Given the description of an element on the screen output the (x, y) to click on. 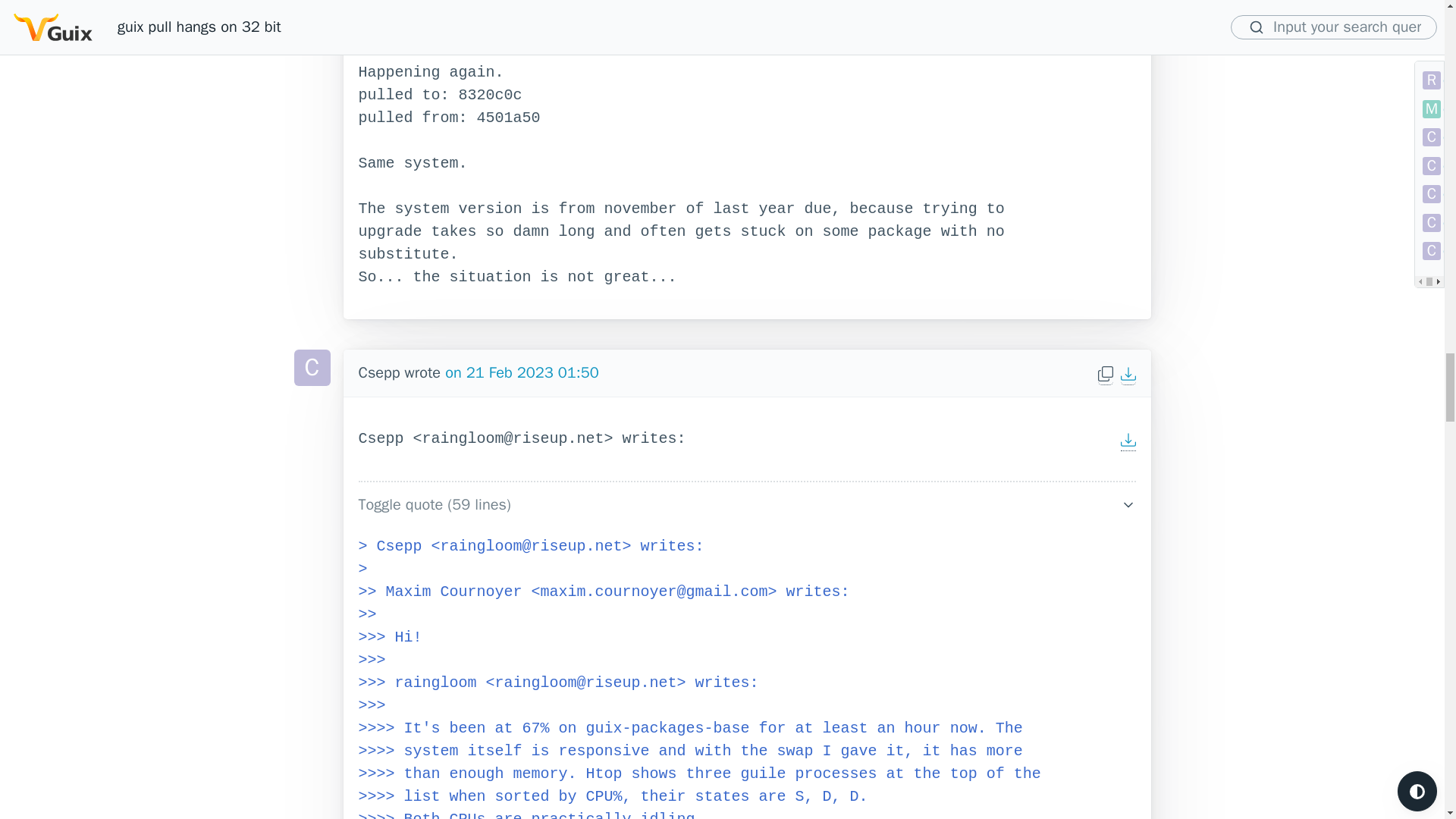
on 21 Feb 2023 01:50 (521, 372)
